Given the description of an element on the screen output the (x, y) to click on. 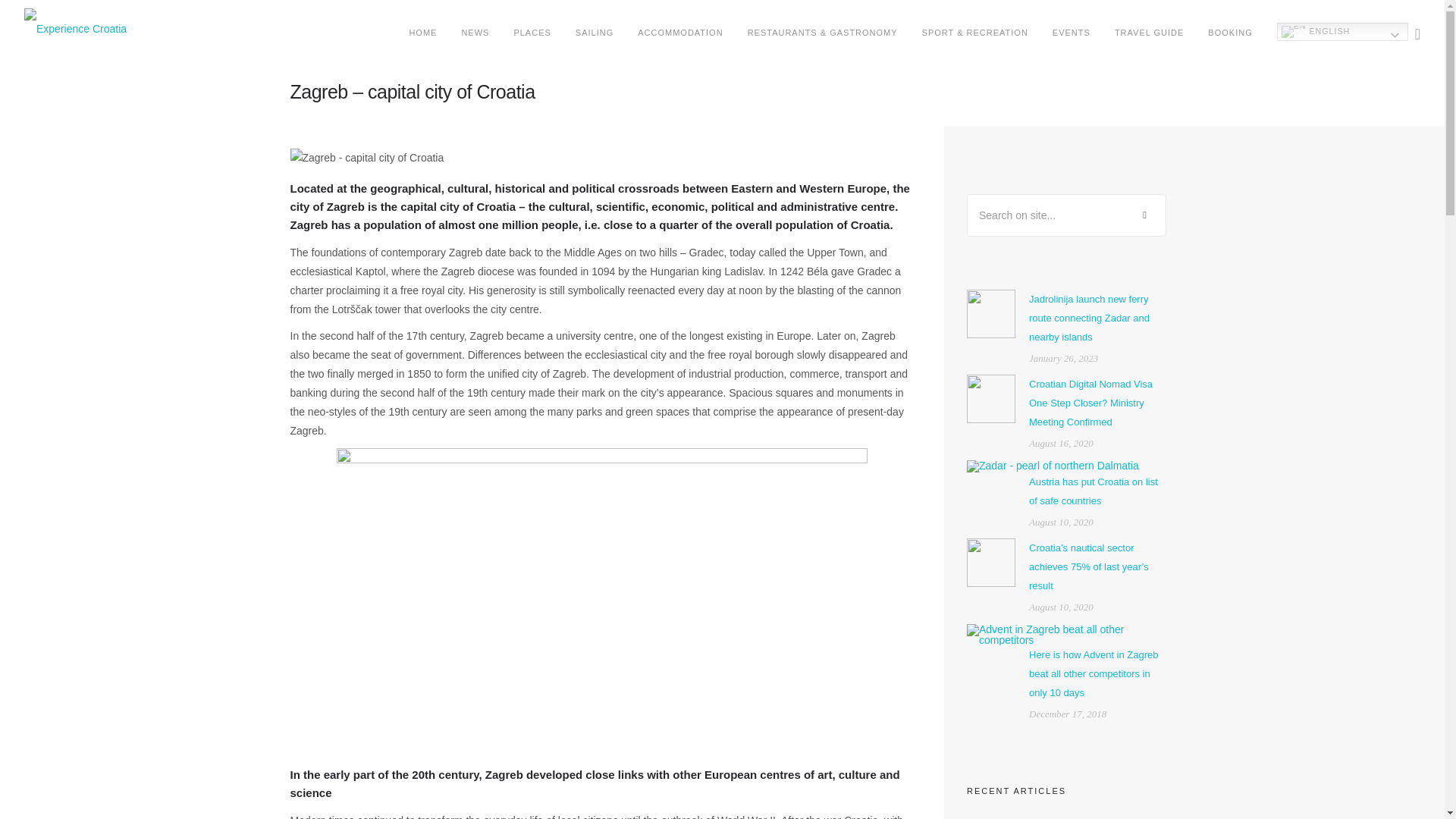
ENGLISH (1341, 31)
SAILING (593, 32)
Austria has put Croatia on list of safe countries (1093, 490)
EVENTS (1071, 32)
ACCOMMODATION (679, 32)
BOOKING (1230, 32)
TRAVEL GUIDE (1149, 32)
PLACES (531, 32)
